Given the description of an element on the screen output the (x, y) to click on. 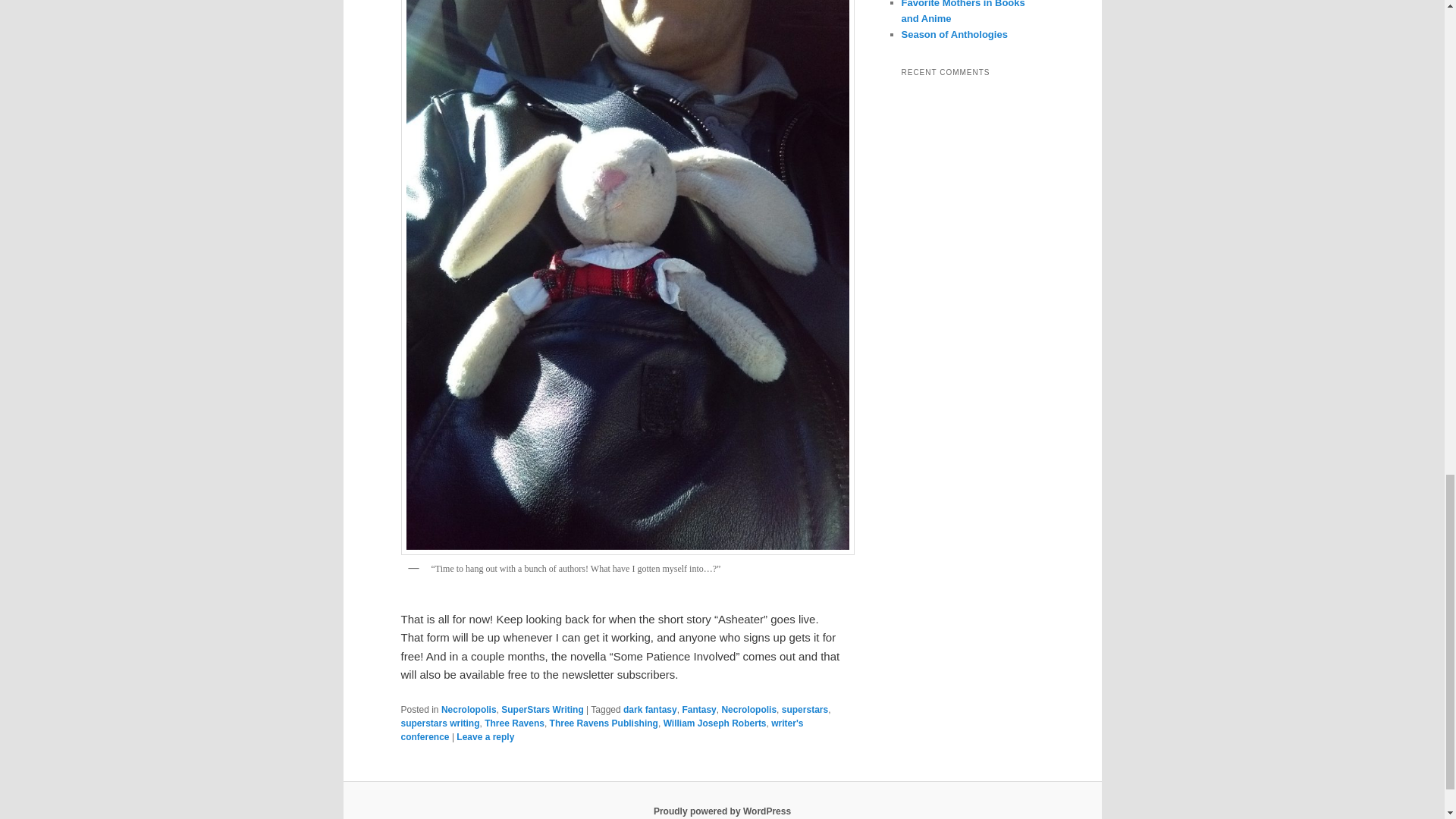
Favorite Mothers in Books and Anime (963, 12)
Three Ravens (514, 723)
Necrolopolis (748, 709)
Fantasy (698, 709)
Leave a reply (485, 737)
William Joseph Roberts (715, 723)
Proudly powered by WordPress (721, 810)
writer's conference (601, 730)
Necrolopolis (468, 709)
Season of Anthologies (954, 34)
